Given the description of an element on the screen output the (x, y) to click on. 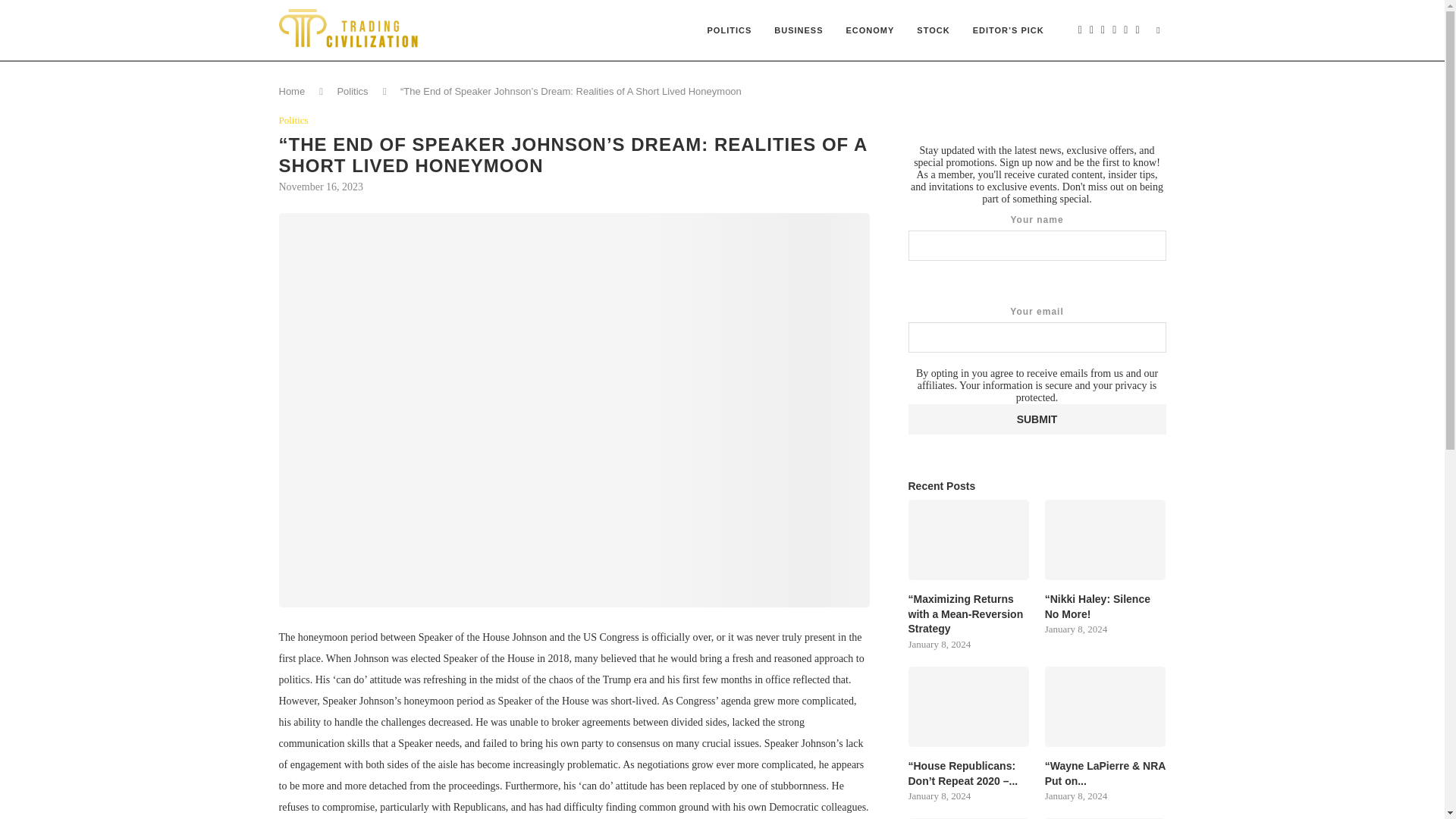
POLITICS (728, 30)
Home (292, 91)
Submit (1037, 419)
Politics (352, 91)
Politics (293, 120)
BUSINESS (798, 30)
STOCK (932, 30)
ECONOMY (869, 30)
